Given the description of an element on the screen output the (x, y) to click on. 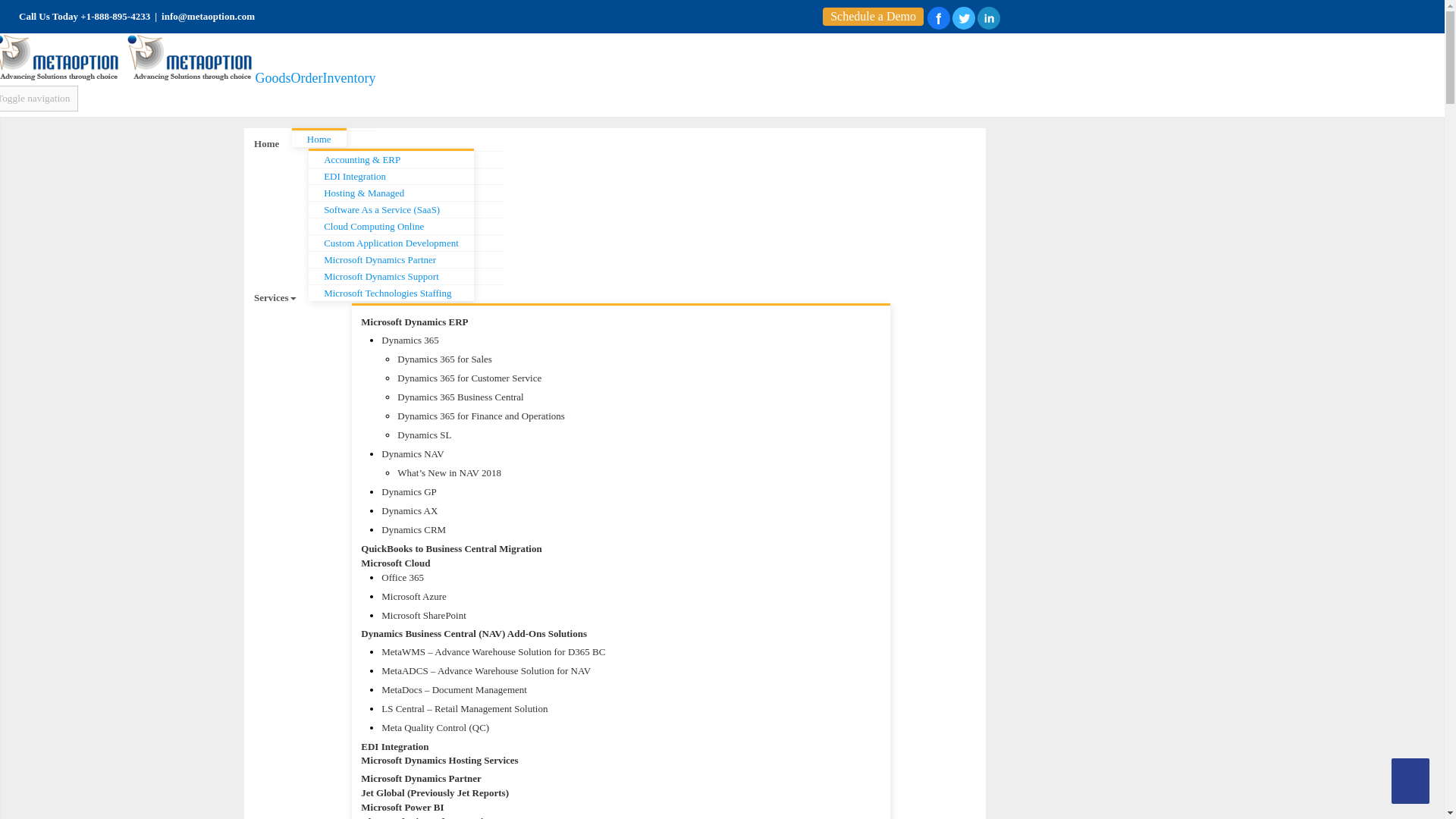
Microsoft Cloud (610, 562)
Office 365 (630, 577)
Toggle navigation (39, 98)
Schedule a Demo (872, 17)
Facebook (938, 17)
EDI Integration (405, 175)
QuickBooks to Business Central Migration (610, 548)
Microsoft Azure (630, 596)
Home (334, 138)
Microsoft Dynamics ERP (414, 321)
Dynamics 365 for Customer Service (615, 377)
Microsoft Technologies Staffing (405, 292)
Microsoft SharePoint (630, 615)
Custom Application Development (405, 242)
Dynamics 365 for Sales (615, 358)
